Given the description of an element on the screen output the (x, y) to click on. 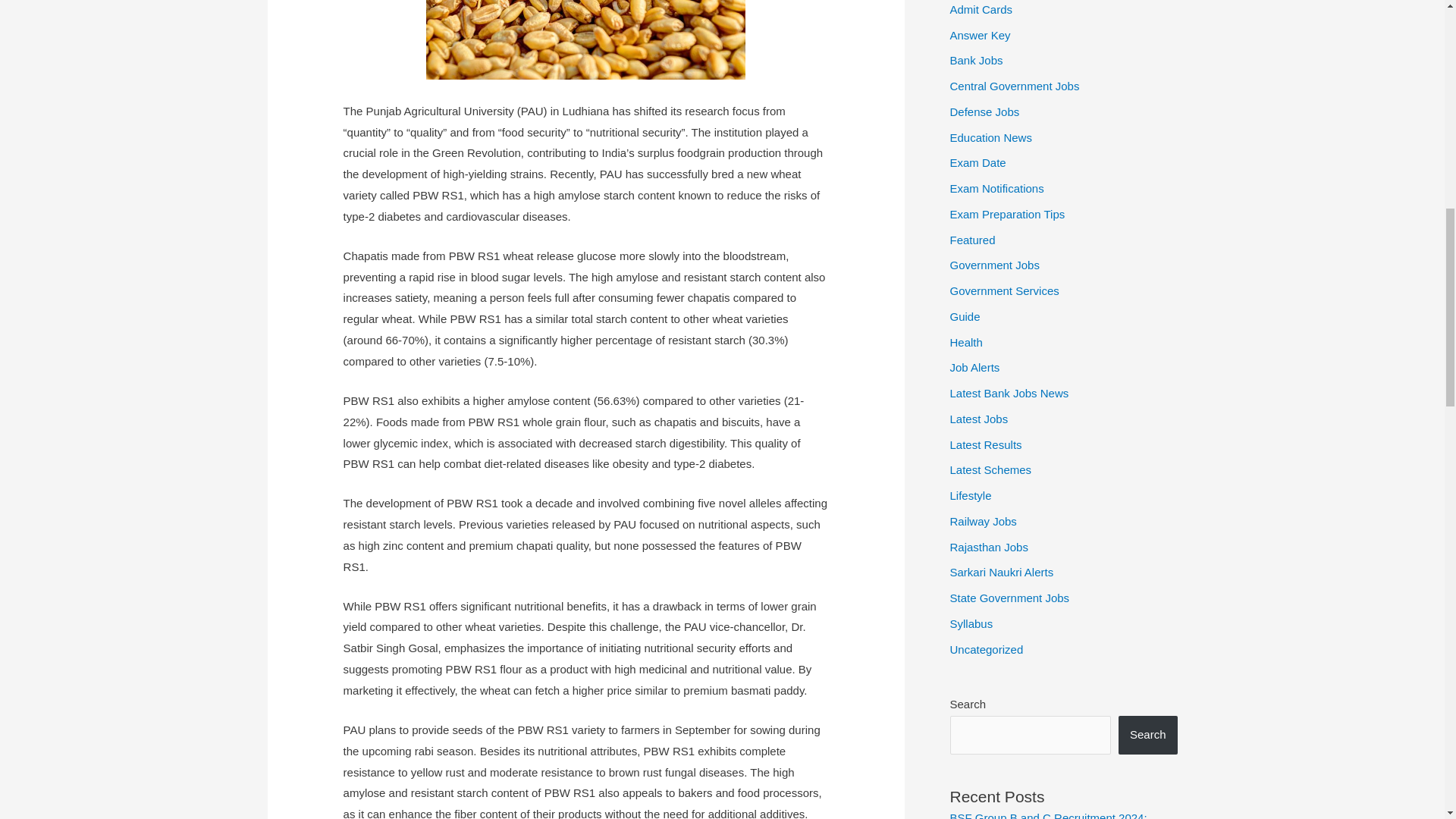
Admit Cards (980, 9)
Answer Key (979, 34)
Bank Jobs (976, 60)
